Given the description of an element on the screen output the (x, y) to click on. 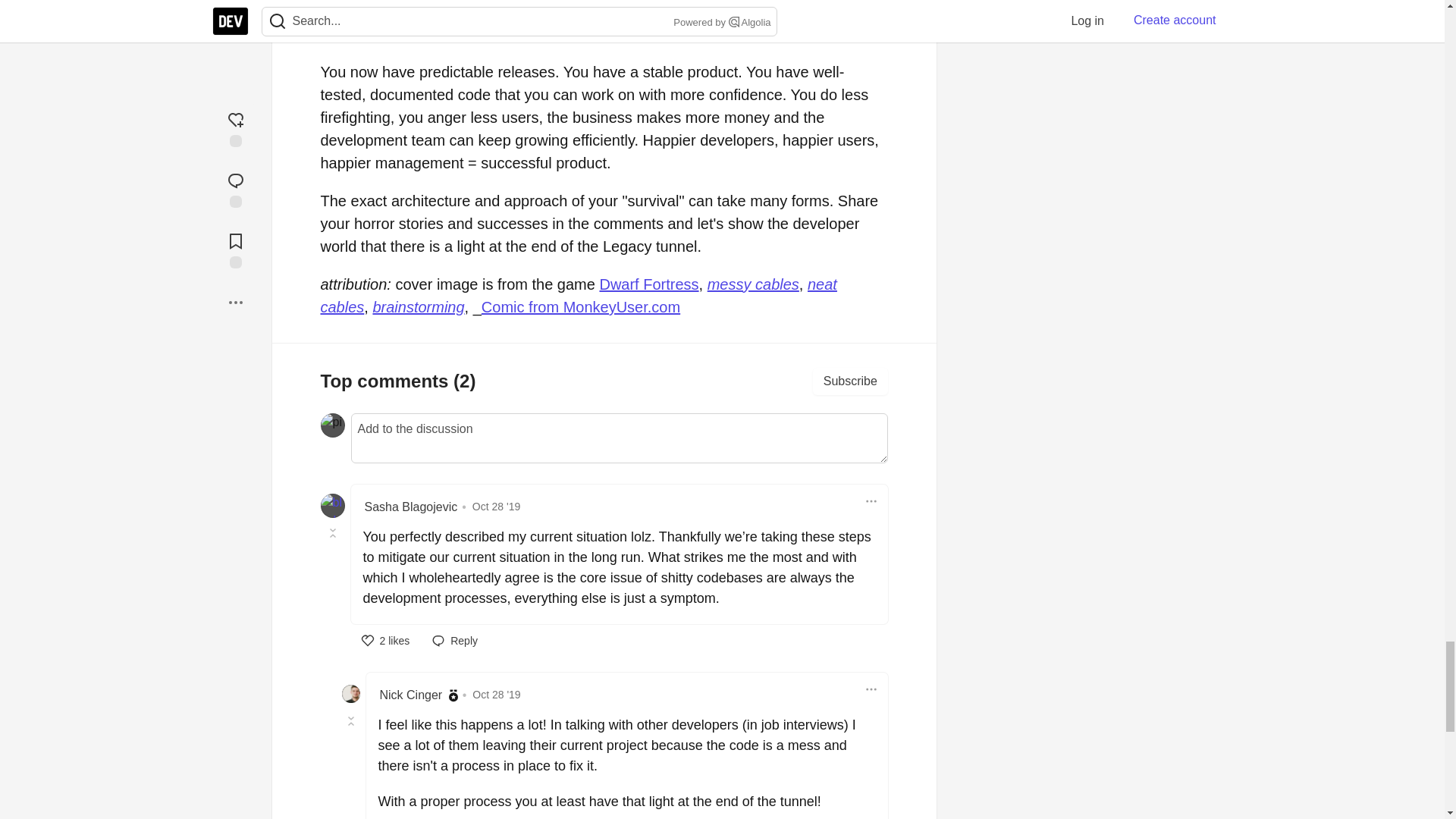
Monday, October 28, 2019 at 5:29:10 PM (495, 694)
Dropdown menu (870, 501)
Dropdown menu (870, 689)
Monday, October 28, 2019 at 5:25:39 PM (495, 506)
